Given the description of an element on the screen output the (x, y) to click on. 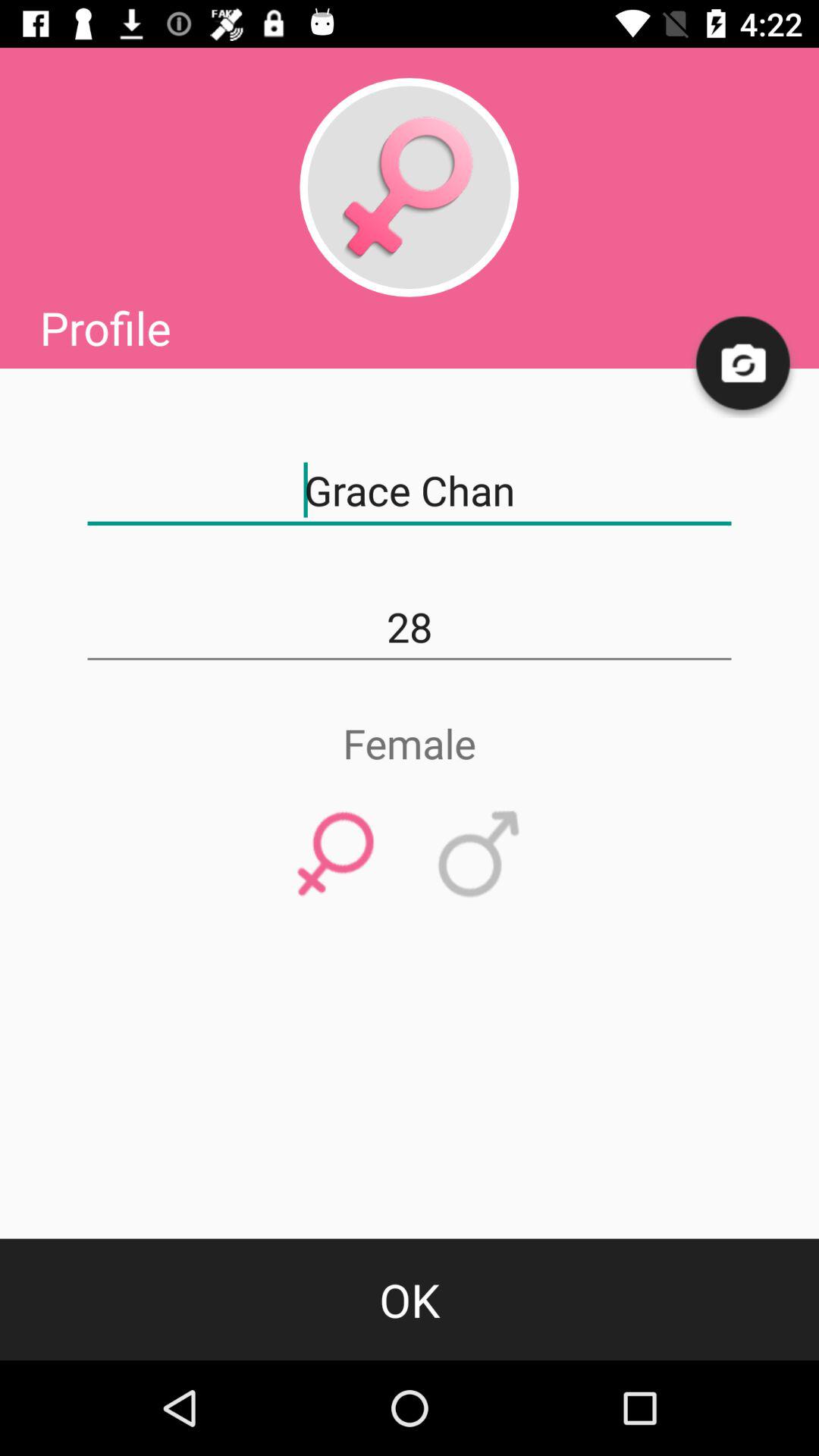
to edit the profile picture (408, 186)
